Given the description of an element on the screen output the (x, y) to click on. 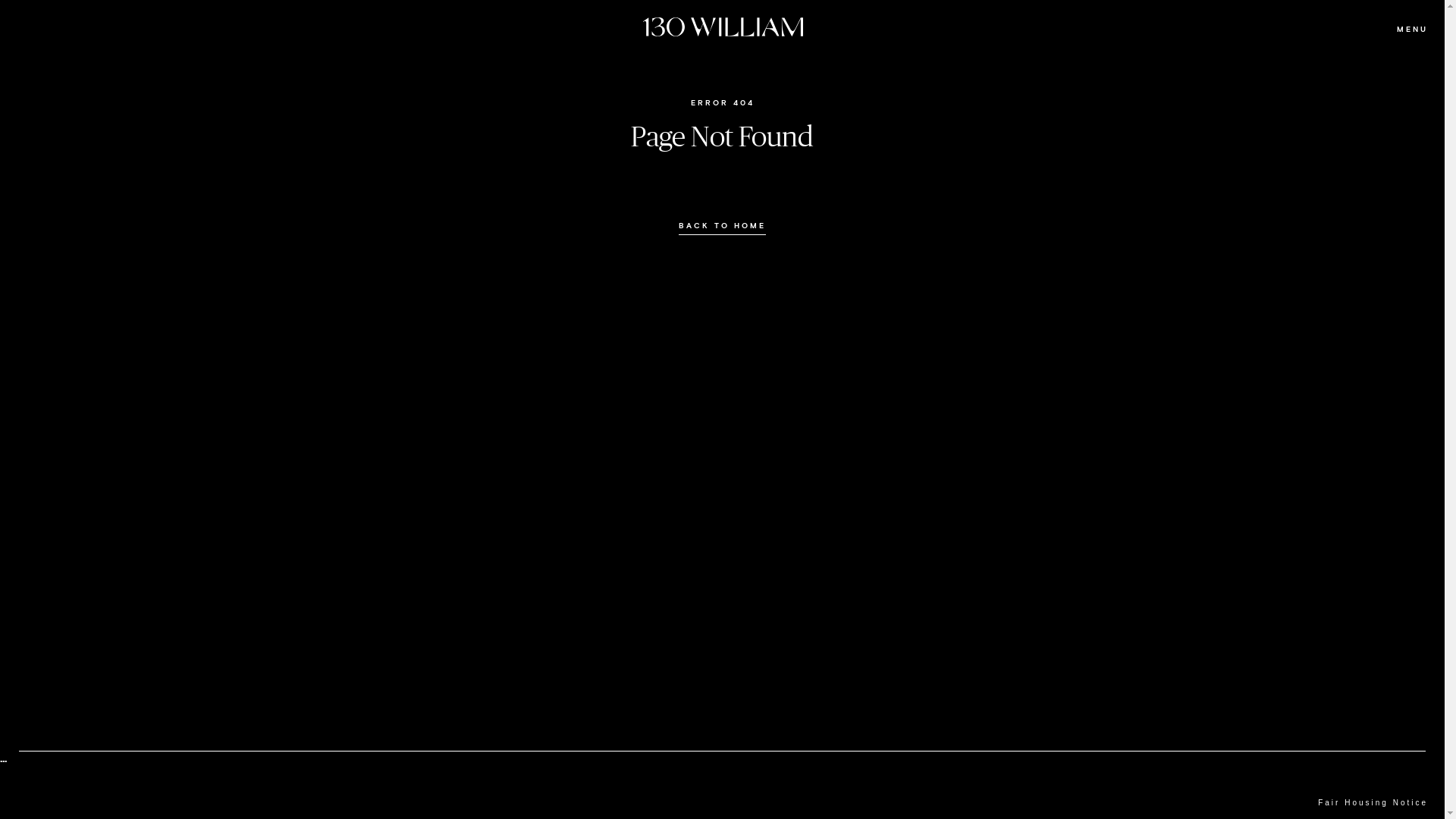
BACK TO HOME Element type: text (721, 226)
Fair Housing Notice Element type: text (1372, 802)
MENU Element type: text (1411, 29)
